Given the description of an element on the screen output the (x, y) to click on. 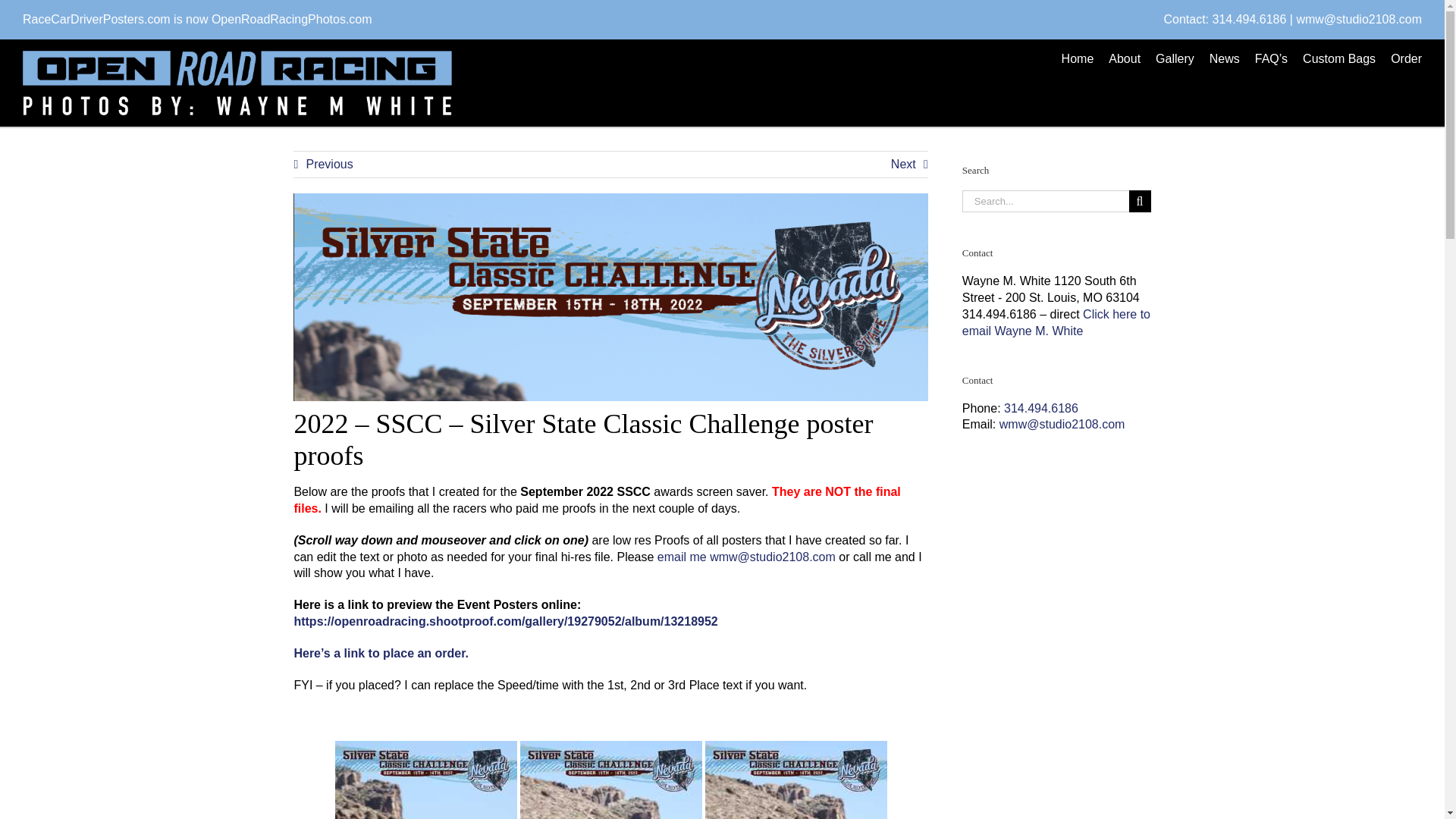
430-JOHN-2022-SSCC (610, 780)
314.494.6186 (1248, 19)
328-DAVID-2022-SSCC (425, 780)
Previous (323, 164)
Gallery (1174, 59)
News (1224, 59)
Next (909, 164)
Home (1077, 59)
2022 SSCC poster graphic (610, 297)
Order (1406, 59)
289-DALE-2022-SSCC (795, 780)
Custom Bags (1339, 59)
About (1124, 59)
